Given the description of an element on the screen output the (x, y) to click on. 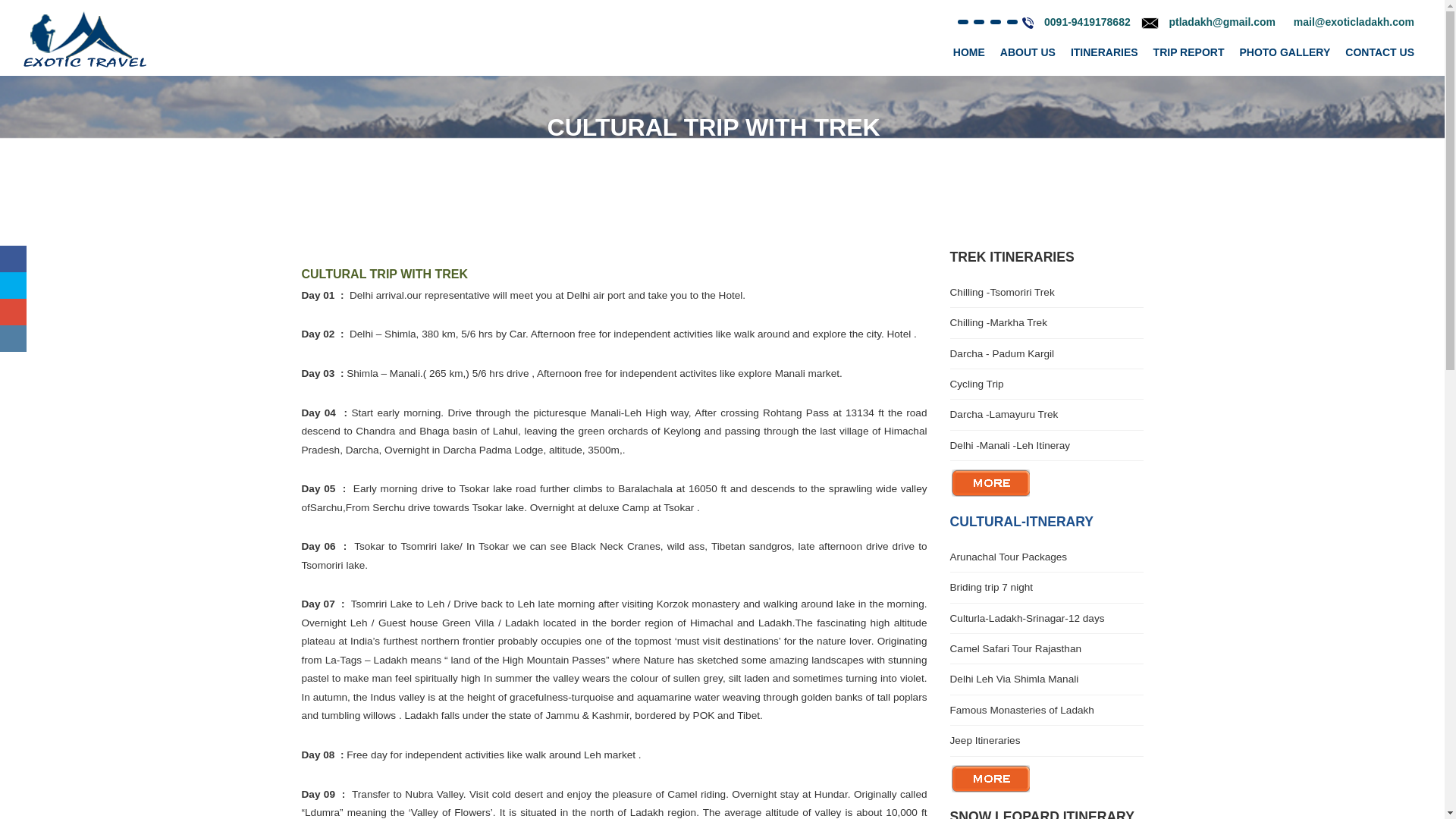
CONTACT US (1380, 51)
Cycling Trip (1045, 383)
0091-9419178682 (1087, 21)
Chilling -Markha Trek (1045, 322)
CULTURAL-ITNERARY (1021, 521)
ITINERARIES (1103, 51)
Camel Safari Tour Rajasthan (1045, 648)
Delhi Leh Via Shimla Manali (1045, 678)
Delhi -Manali -Leh Itineray (1045, 445)
Jeep Itineraries (1045, 740)
